Given the description of an element on the screen output the (x, y) to click on. 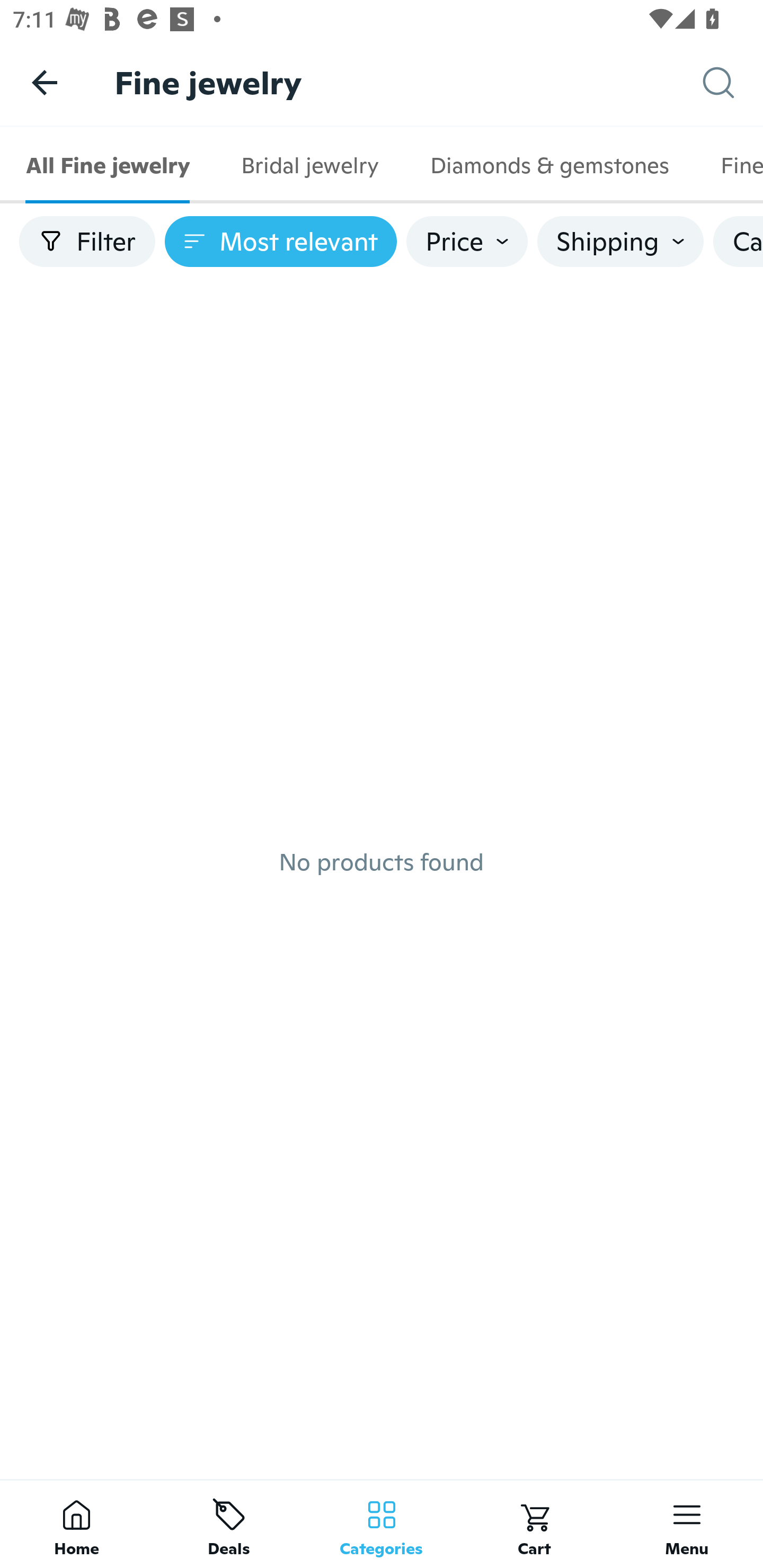
Navigate up (44, 82)
Search (732, 82)
All Fine jewelry (107, 165)
Bridal jewelry (309, 165)
Diamonds & gemstones (549, 165)
Filter (86, 241)
Most relevant (280, 241)
Price (466, 241)
Shipping (620, 241)
Home (76, 1523)
Deals (228, 1523)
Categories (381, 1523)
Cart (533, 1523)
Menu (686, 1523)
